Given the description of an element on the screen output the (x, y) to click on. 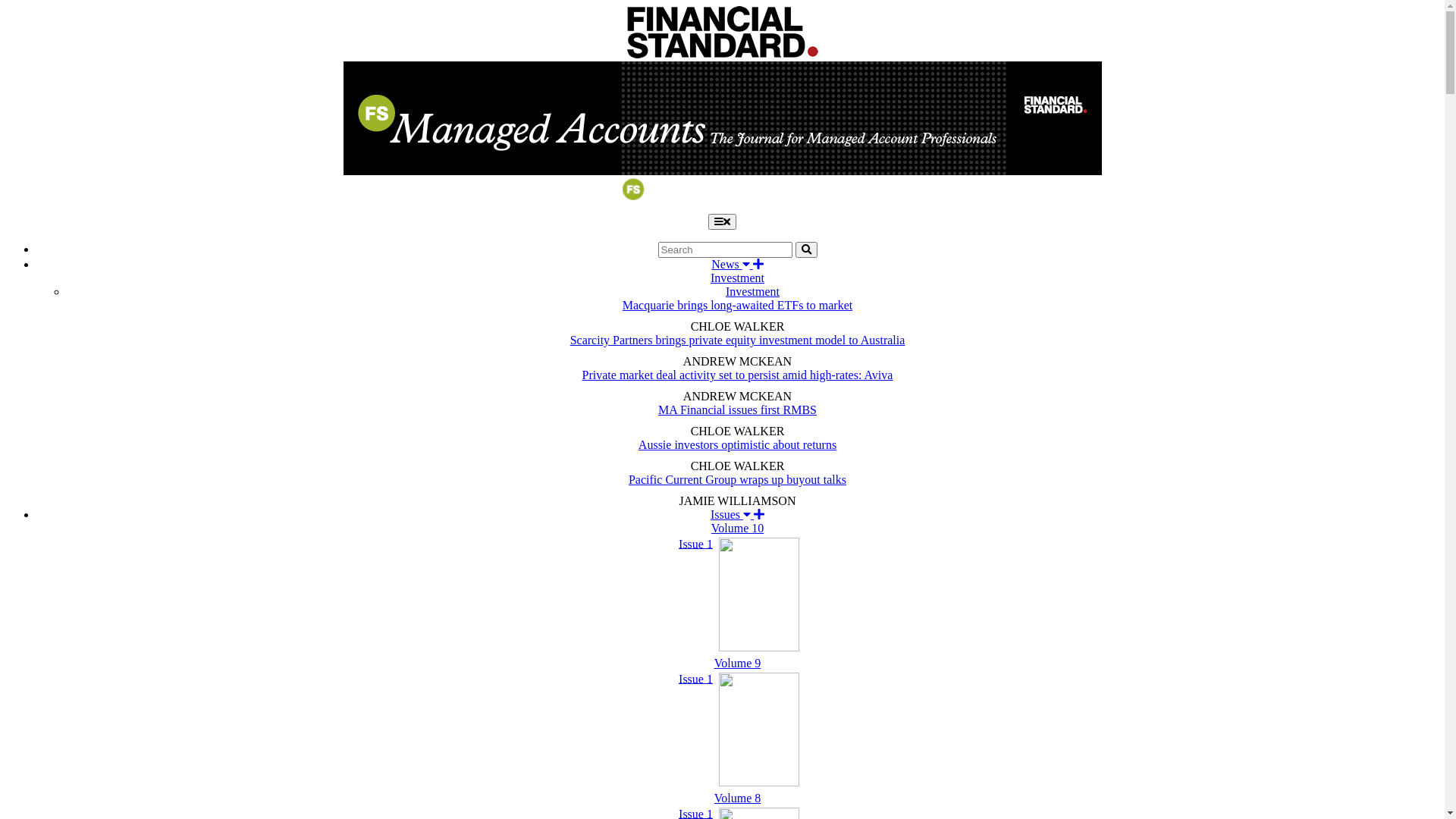
Volume 10 Element type: text (737, 527)
Aussie investors optimistic about returns Element type: text (737, 444)
News Element type: text (736, 263)
FS Managed Accounts Element type: hover (721, 206)
Pacific Current Group wraps up buyout talks Element type: text (737, 479)
Investment Element type: text (752, 291)
FS Managed Accounts Element type: hover (721, 194)
Volume 8 Element type: text (737, 797)
Investment Element type: text (737, 277)
FS Managed Accounts Element type: hover (721, 118)
Volume 9 Element type: text (737, 662)
Issues Element type: text (737, 514)
MA Financial issues first RMBS Element type: text (737, 409)
Issue 1 Element type: text (737, 730)
Issue 1 Element type: text (737, 595)
Macquarie brings long-awaited ETFs to market Element type: text (737, 304)
